Given the description of an element on the screen output the (x, y) to click on. 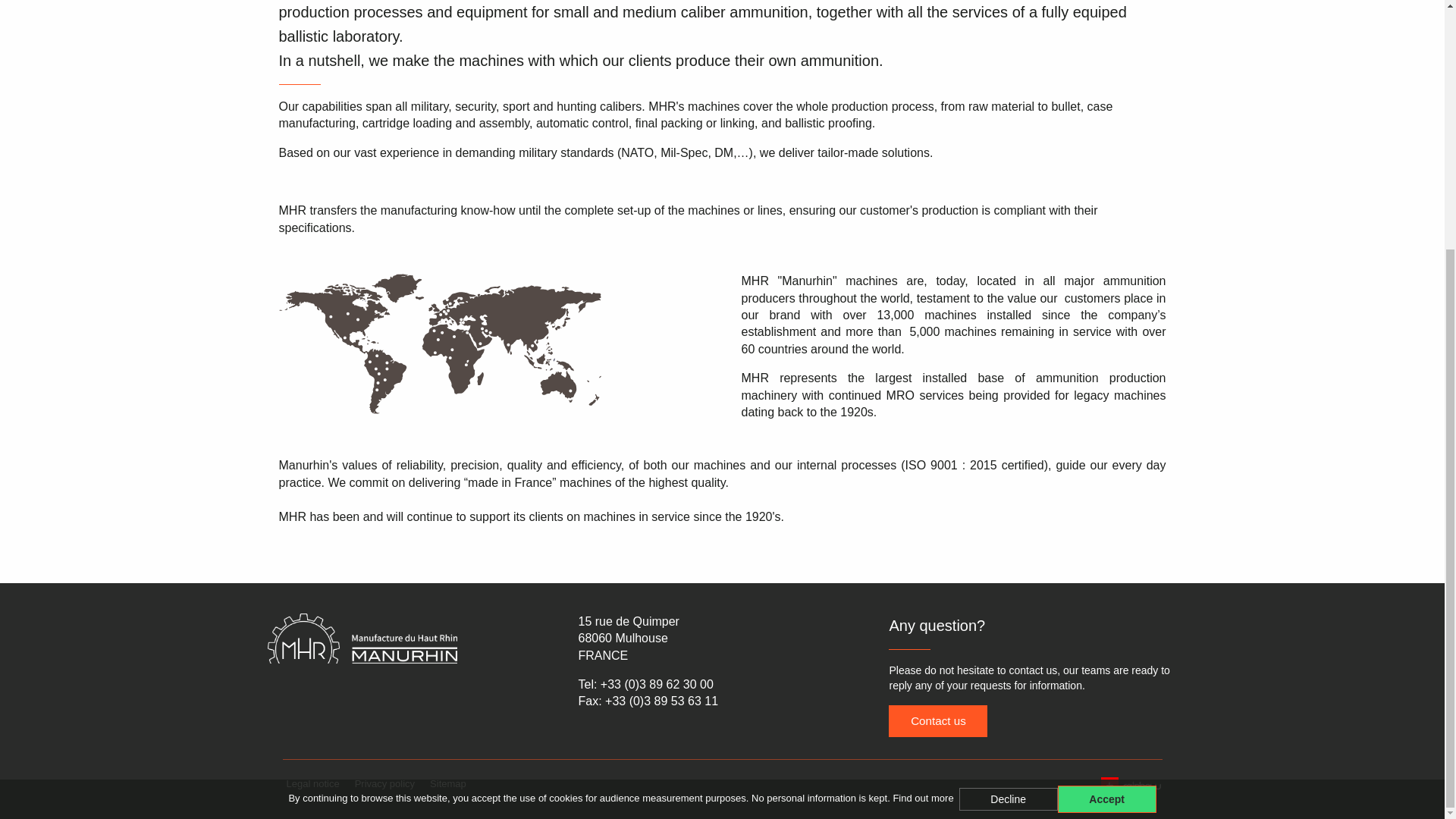
Accept (1107, 449)
Find out more (922, 448)
Privacy policy (384, 783)
Privacy policy (384, 783)
Contact us (937, 721)
Sitemap (448, 783)
Decline (1008, 449)
Manufacture du Haut Rhin (410, 649)
Legal notice (313, 783)
Legal notice (313, 783)
Sitemap (448, 783)
